Given the description of an element on the screen output the (x, y) to click on. 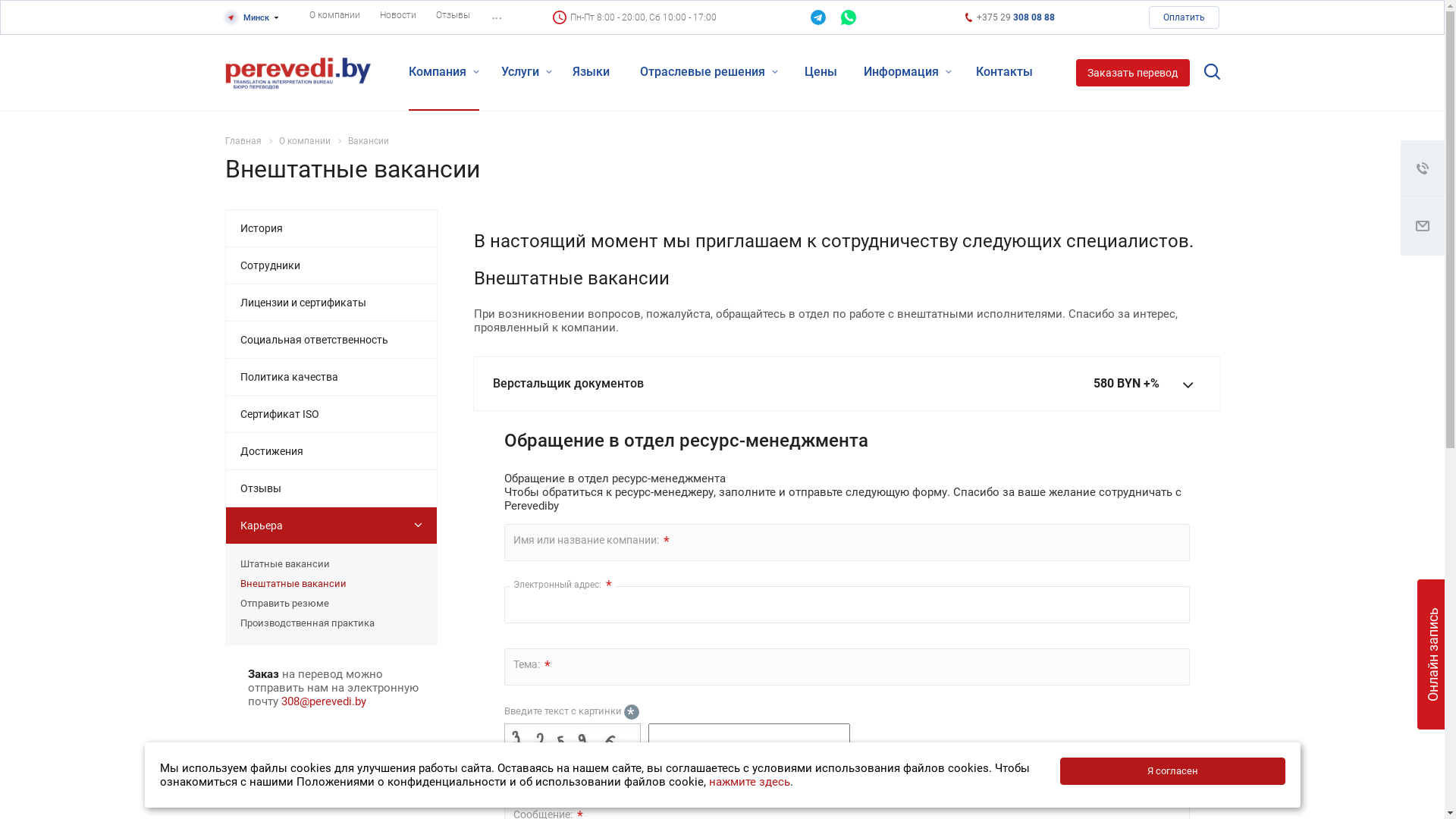
+375 29 308 08 88 Element type: text (1014, 17)
08@perevedi.by Element type: text (325, 701)
3 Element type: text (283, 701)
